Given the description of an element on the screen output the (x, y) to click on. 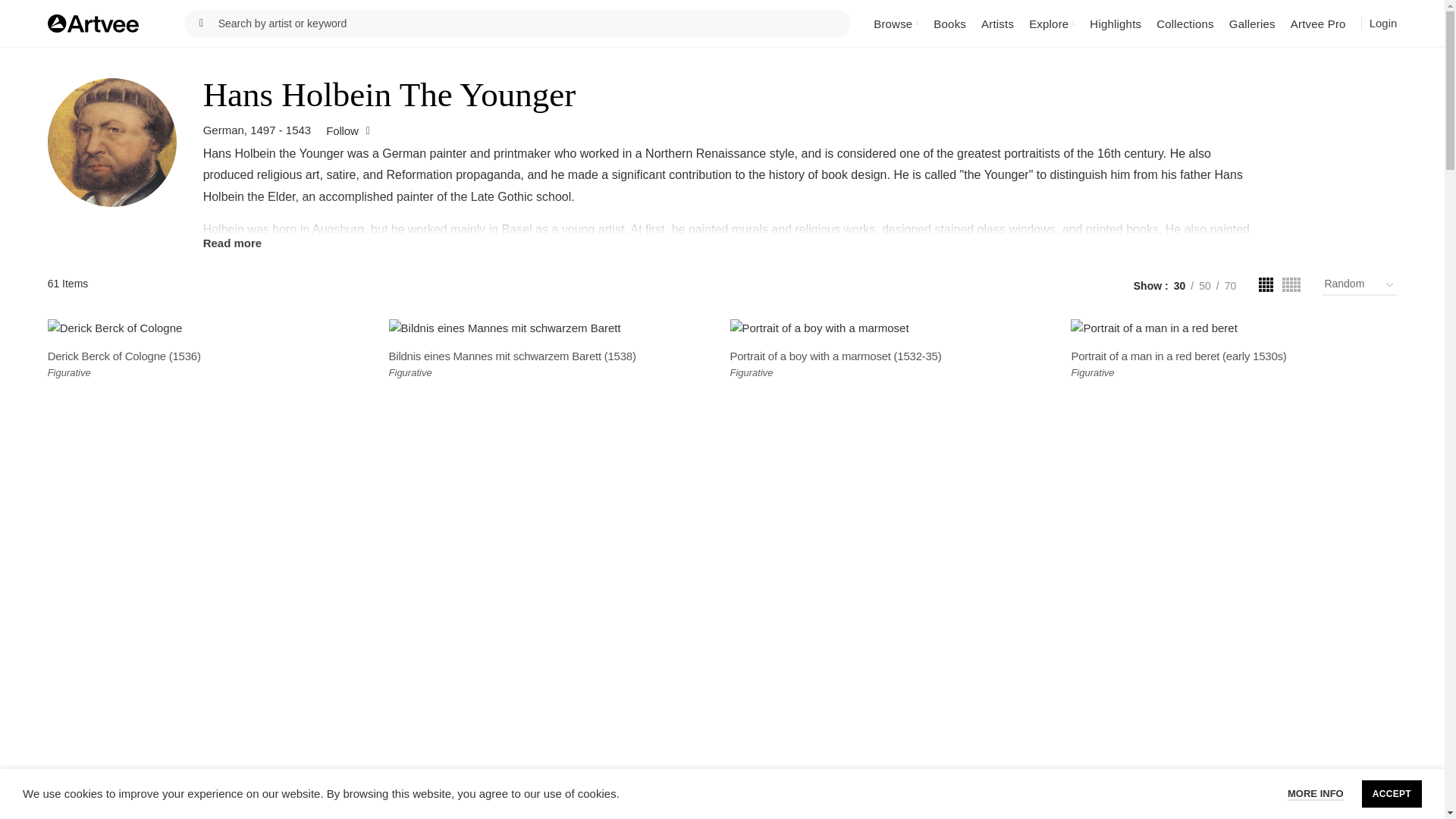
Artists (998, 23)
Login (1383, 23)
70 (1230, 285)
Highlights (1114, 23)
Galleries (1251, 23)
30 (1180, 285)
Read more (732, 243)
Artvee Pro (1318, 23)
Browse (896, 23)
Hans Holbein The Younger (112, 142)
Explore (1051, 23)
SEARCH (201, 22)
50 (1204, 285)
Books (950, 23)
Login (1383, 22)
